Given the description of an element on the screen output the (x, y) to click on. 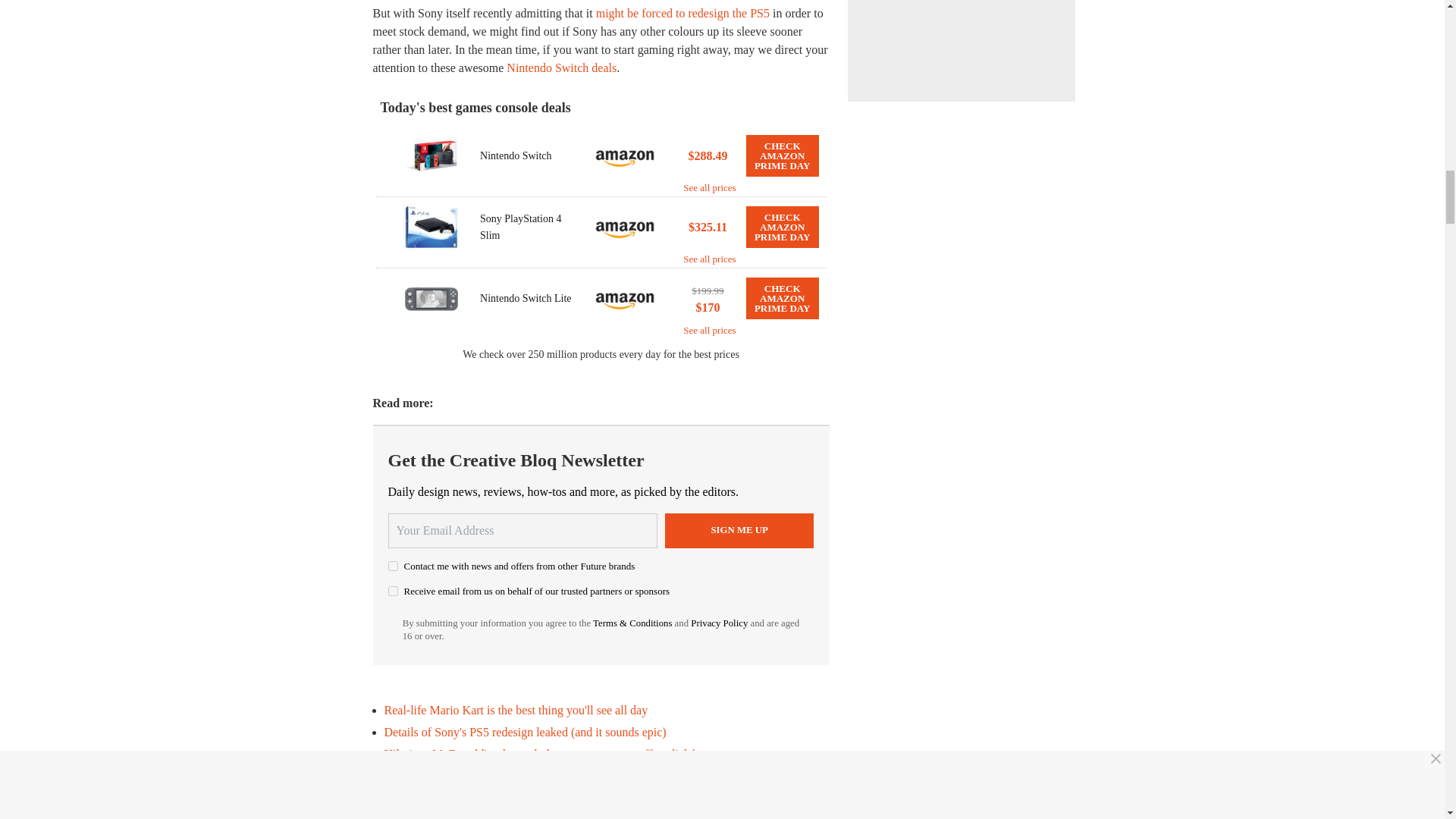
Amazon (624, 227)
Playstation Sony 4, 500GB... (431, 226)
on (392, 591)
Sign me up (739, 530)
on (392, 565)
Amazon (624, 155)
Nintendo Switch Lite - Coral... (431, 298)
Nintendo Switch with Gray... (431, 155)
Amazon (624, 298)
